Given the description of an element on the screen output the (x, y) to click on. 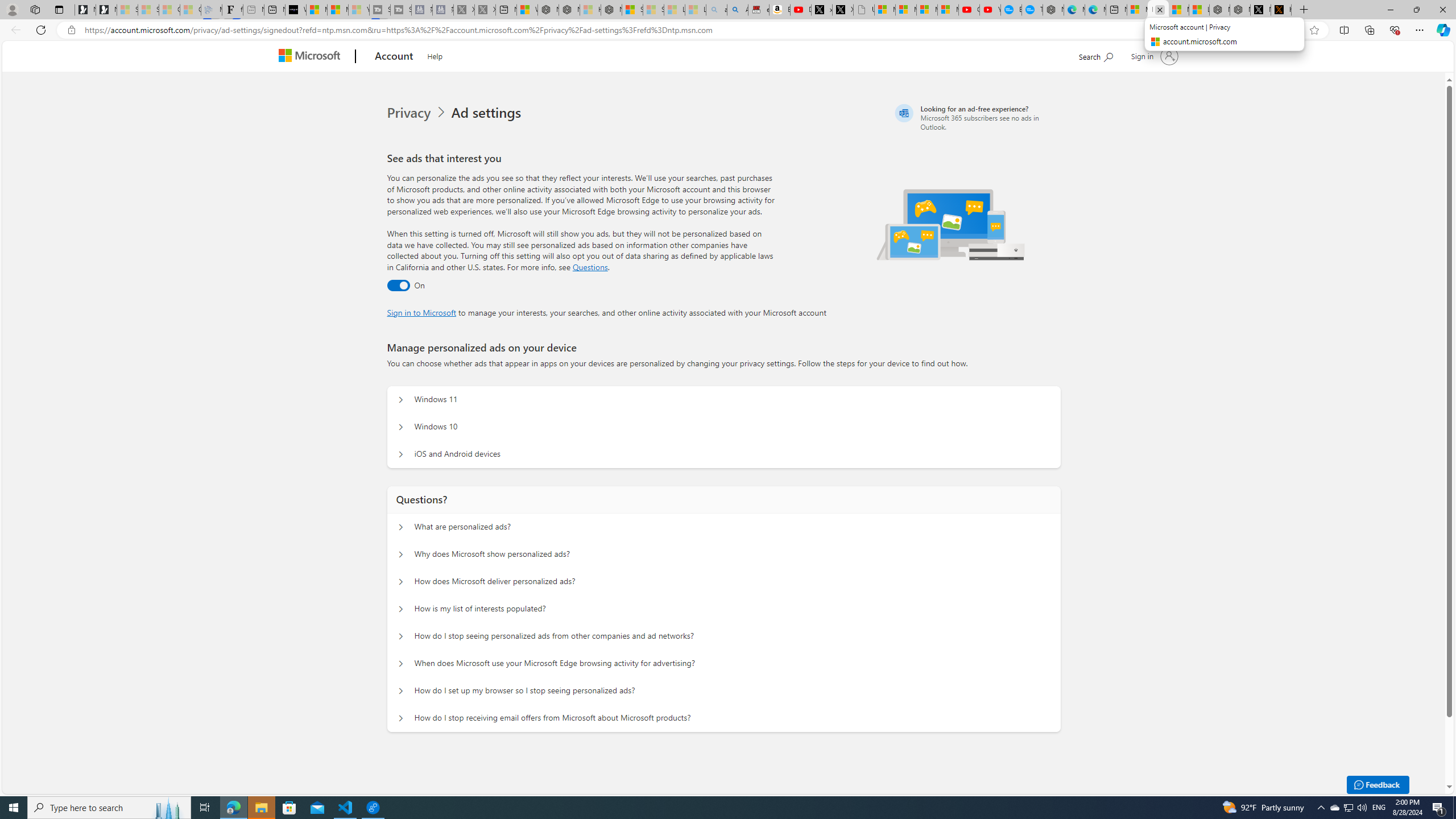
Looking for an ad-free experience? (976, 117)
amazon - Search - Sleeping (716, 9)
YouTube Kids - An App Created for Kids to Explore Content (990, 9)
Microsoft (311, 56)
Manage personalized ads on your device Windows 10 (401, 427)
